Given the description of an element on the screen output the (x, y) to click on. 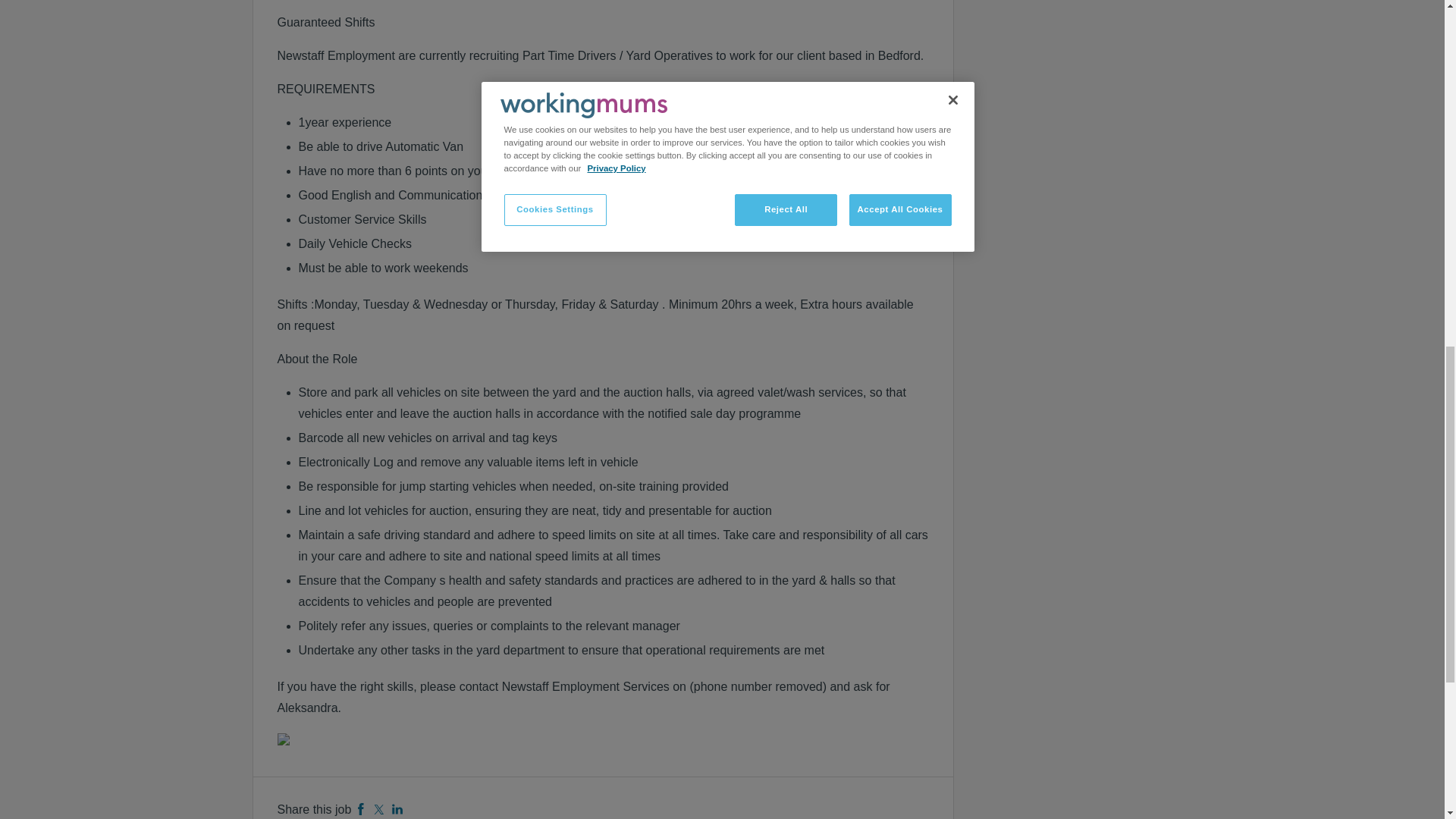
Facebook (360, 809)
Twitter (378, 809)
